Given the description of an element on the screen output the (x, y) to click on. 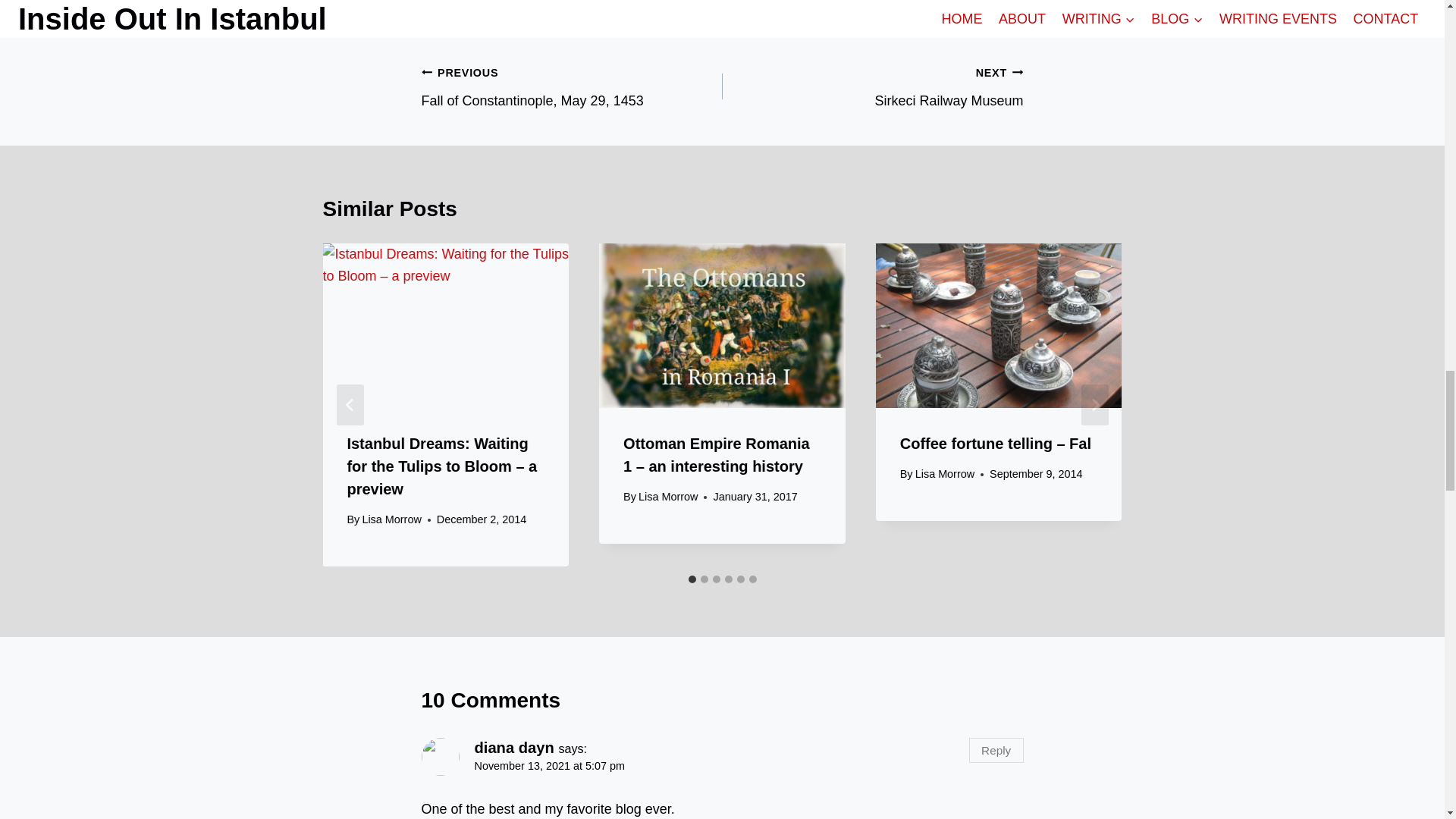
Religion in Turkey (872, 86)
living in istanbul (577, 13)
